Given the description of an element on the screen output the (x, y) to click on. 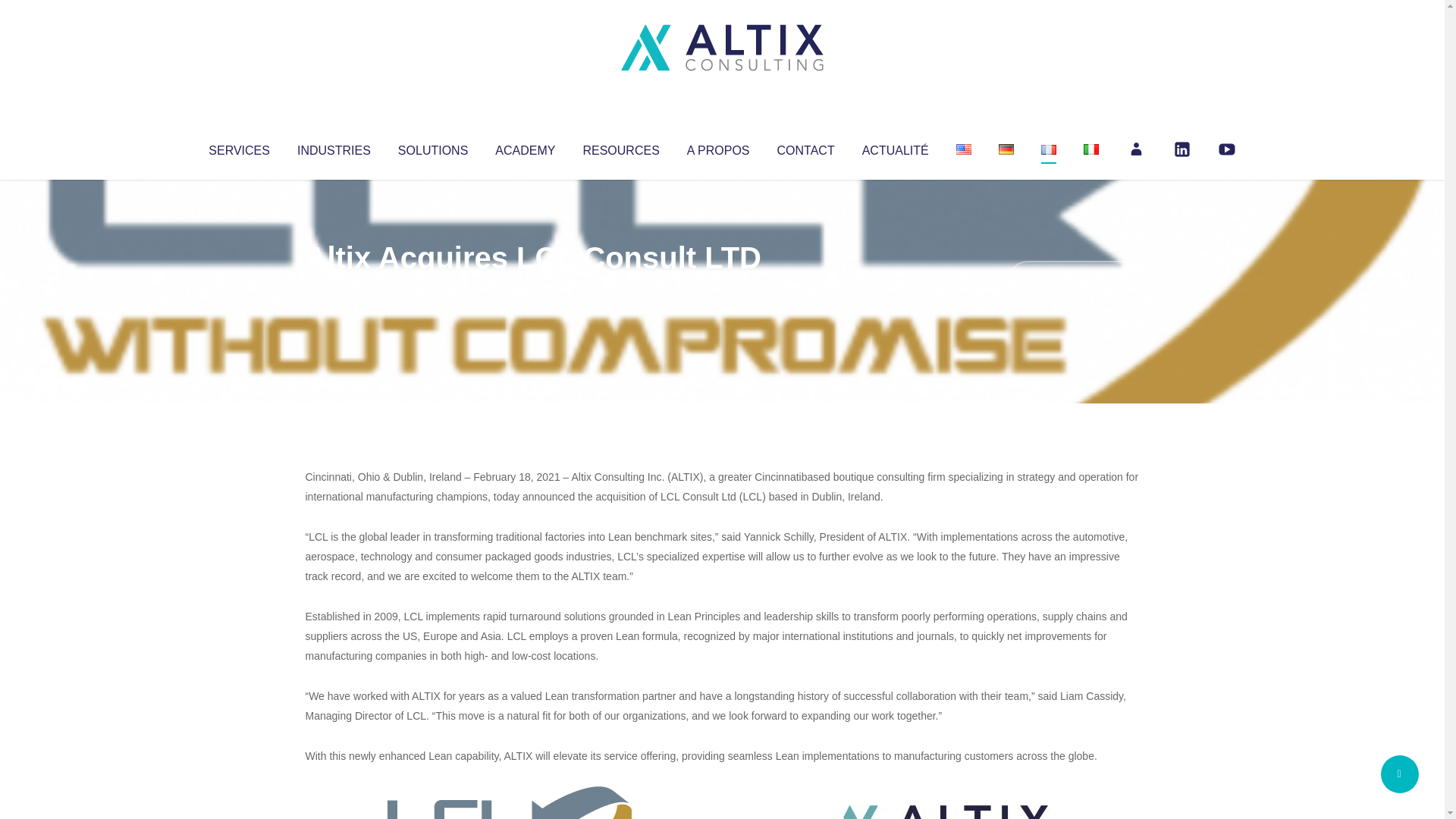
Altix (333, 287)
SERVICES (238, 146)
RESOURCES (620, 146)
INDUSTRIES (334, 146)
ACADEMY (524, 146)
No Comments (1073, 278)
Uncategorized (530, 287)
SOLUTIONS (432, 146)
Articles par Altix (333, 287)
A PROPOS (718, 146)
